Given the description of an element on the screen output the (x, y) to click on. 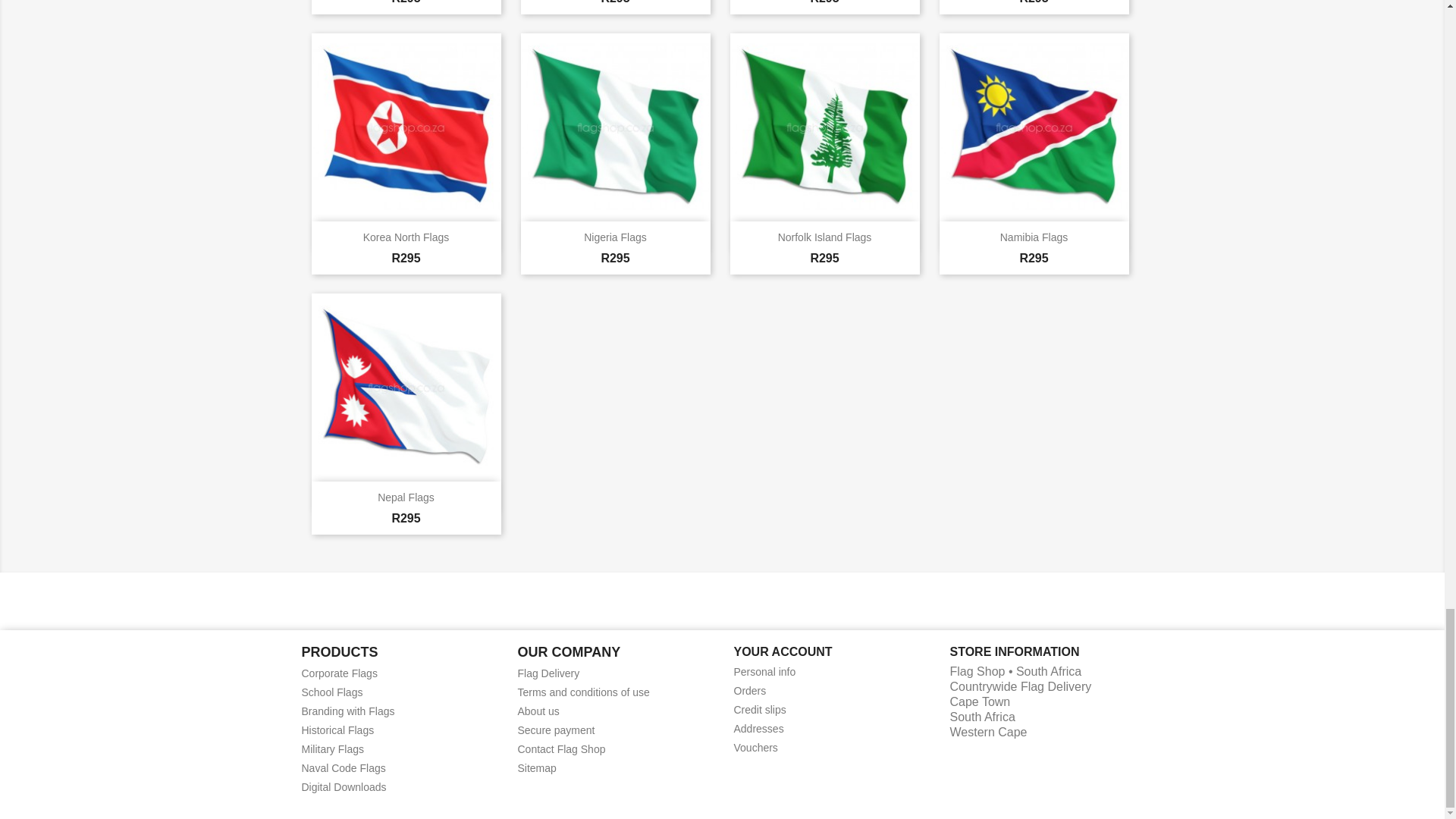
Flag Shop terms and conditions of use (582, 692)
